Given the description of an element on the screen output the (x, y) to click on. 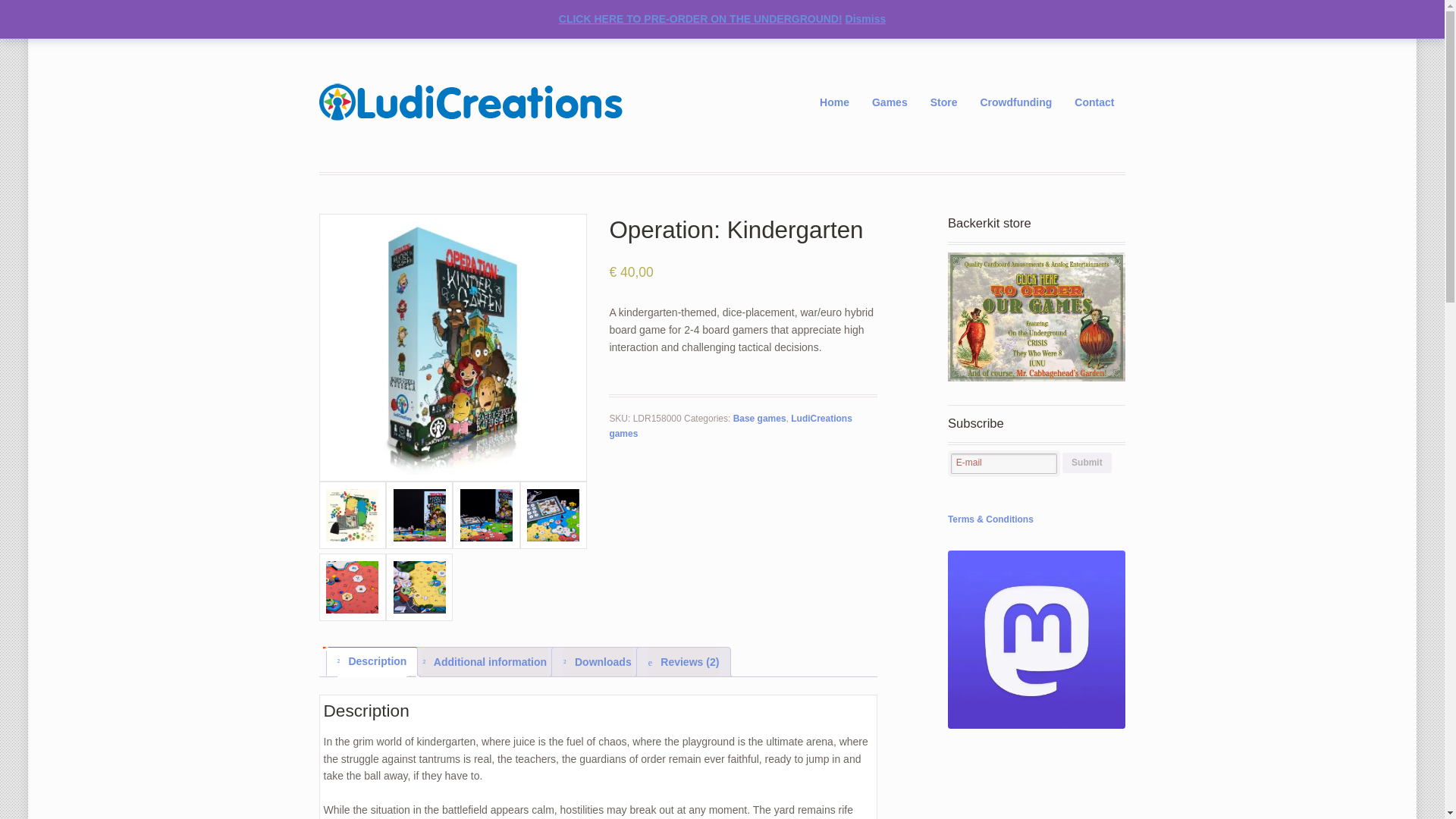
Contact (1093, 101)
Home (834, 101)
E-mail (1003, 463)
Submit (1087, 462)
Downloads (596, 661)
LudiCreations games (729, 425)
Operation: Kindergarten (485, 514)
Operation: Kindergarten detail (418, 586)
Submit (1087, 462)
Operation Kindergarten (452, 347)
Crowdfunding (1015, 101)
Operation: Kindergarten detail (351, 586)
Base games (759, 418)
Games (889, 101)
Additional information (484, 661)
